Given the description of an element on the screen output the (x, y) to click on. 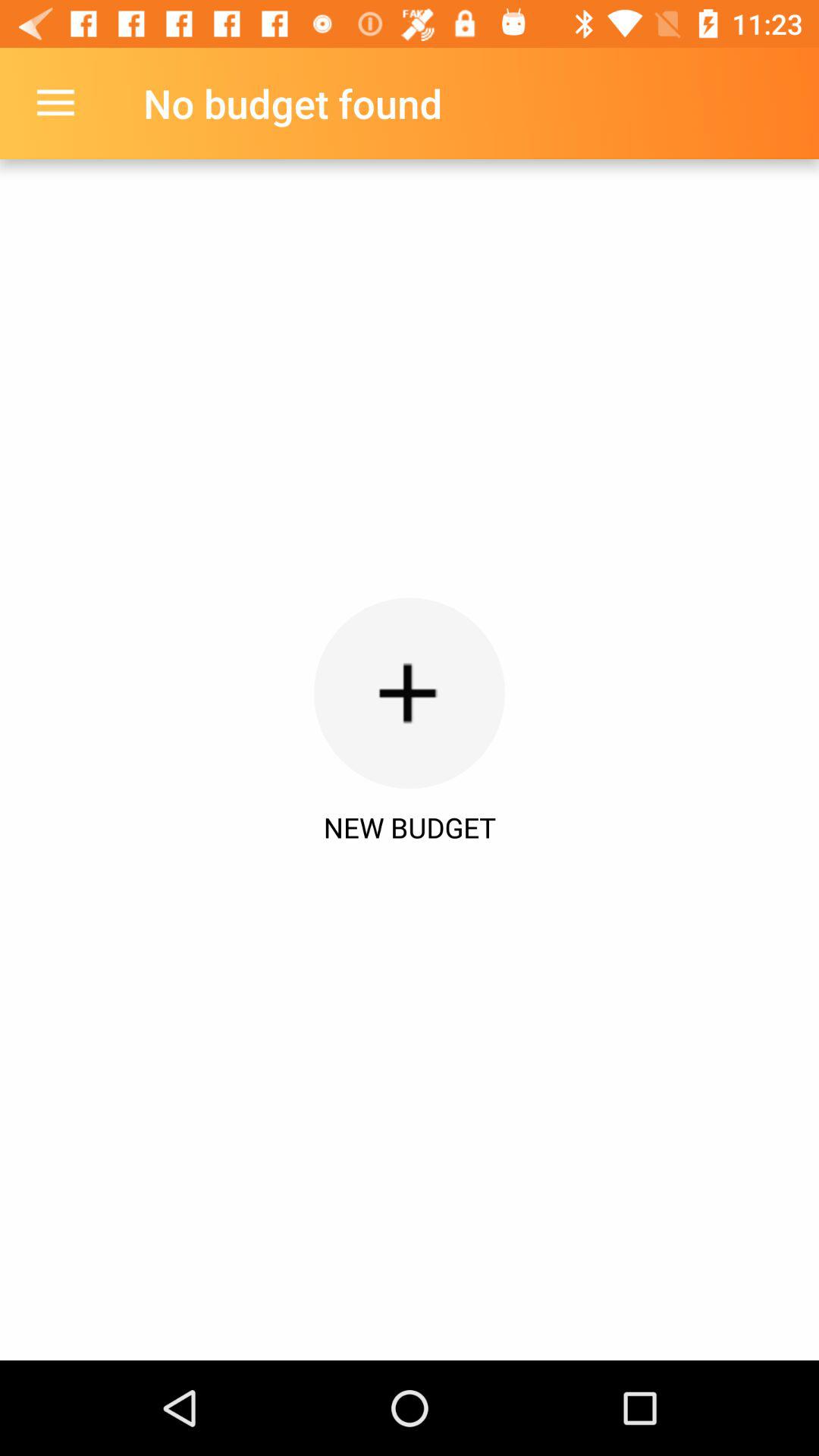
choose the item next to the no budget found item (55, 103)
